Given the description of an element on the screen output the (x, y) to click on. 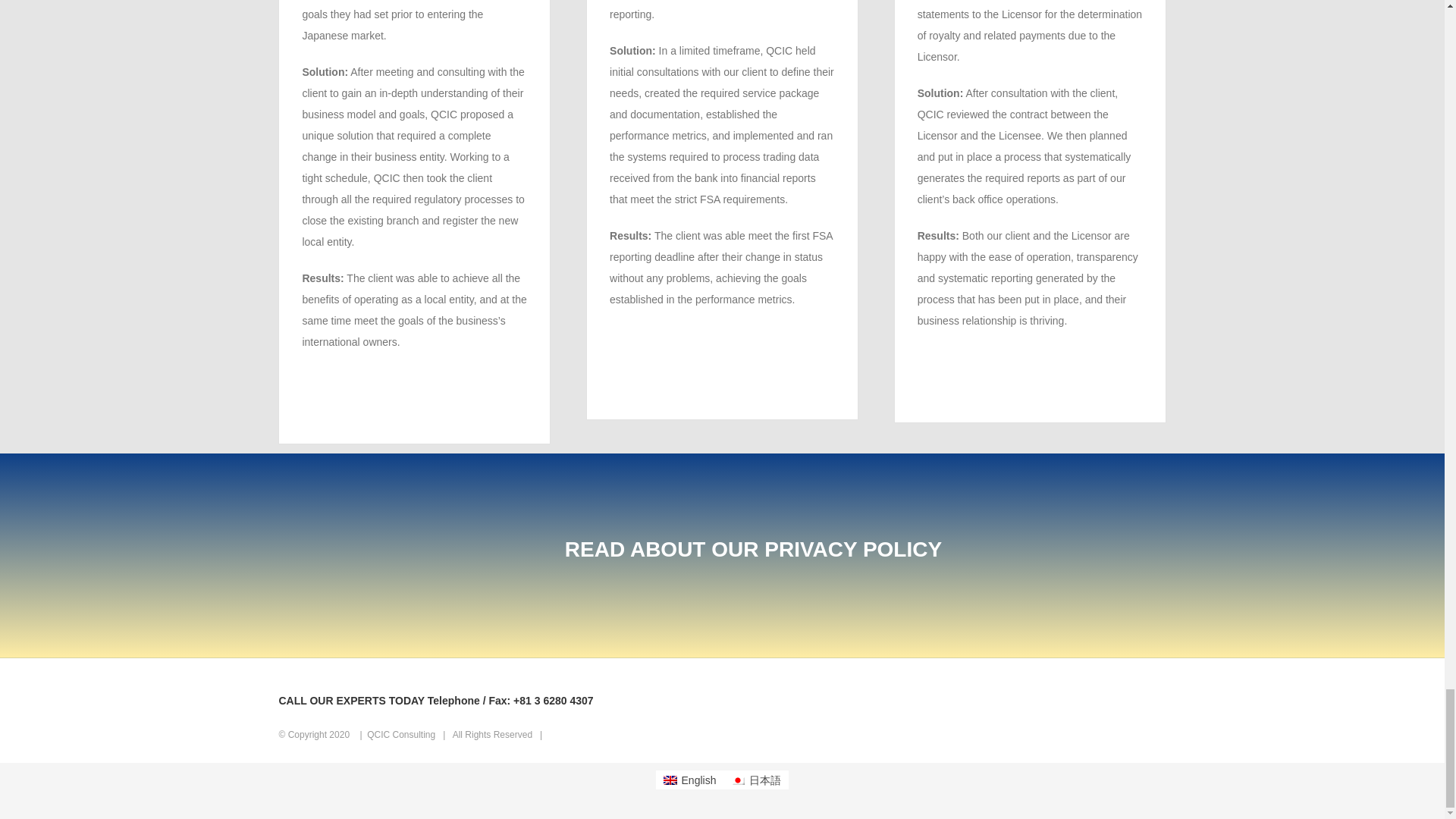
English (689, 779)
READ ABOUT OUR PRIVACY POLICY (753, 549)
